Given the description of an element on the screen output the (x, y) to click on. 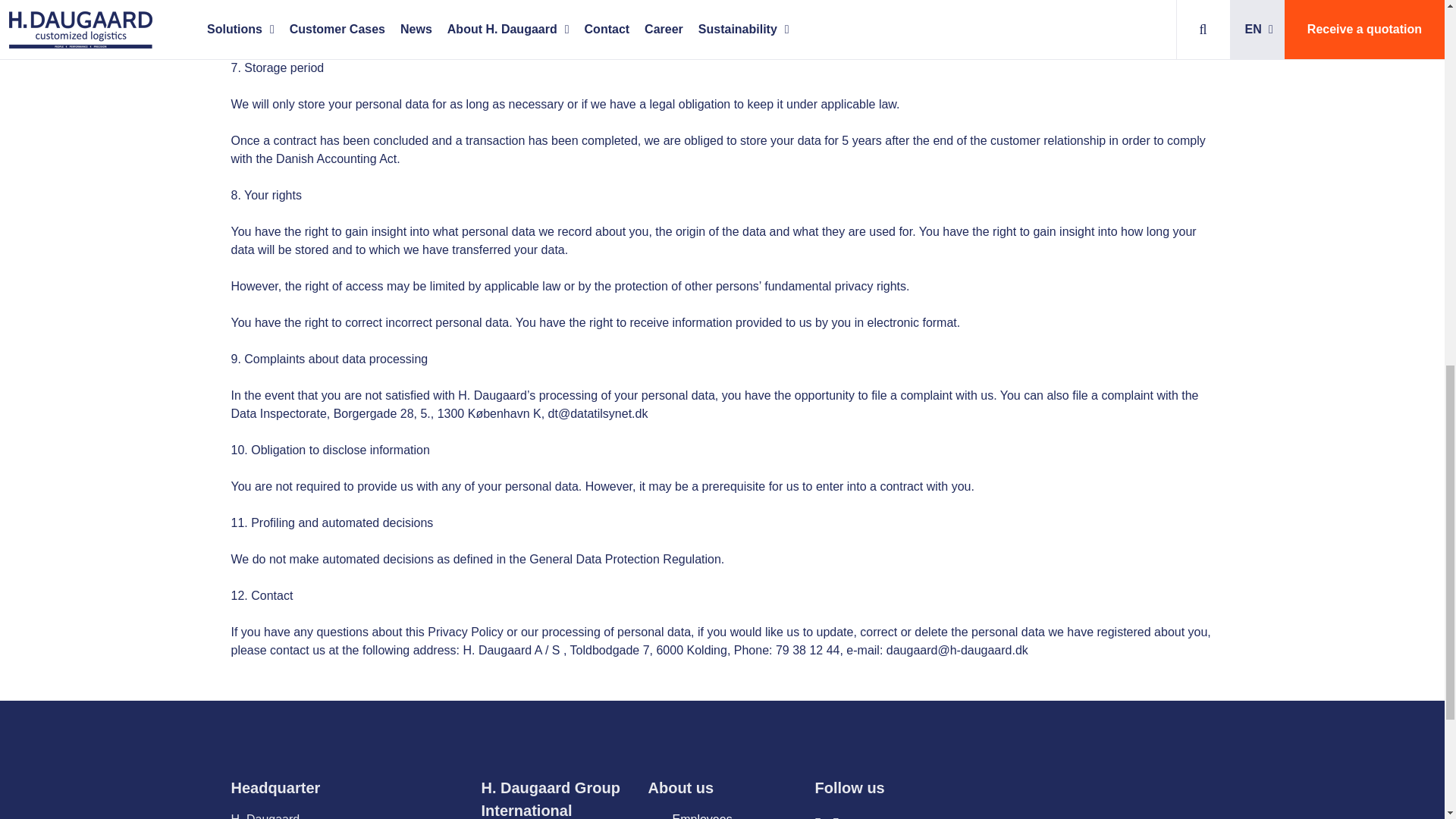
Employees (701, 816)
